Given the description of an element on the screen output the (x, y) to click on. 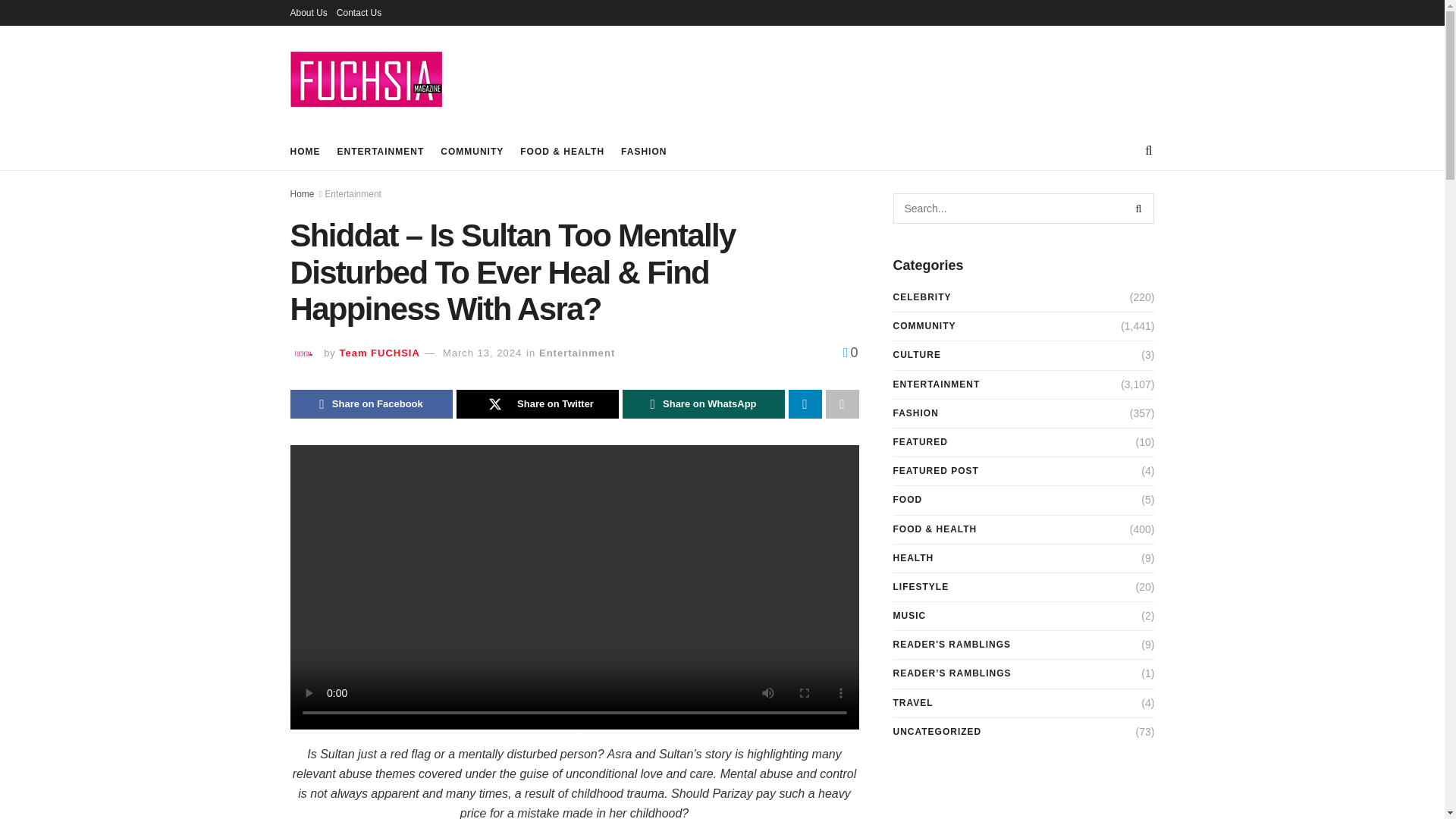
COMMUNITY (472, 151)
About Us (307, 12)
Share on Twitter (537, 403)
Entertainment (352, 194)
Share on WhatsApp (702, 403)
March 13, 2024 (481, 352)
ENTERTAINMENT (379, 151)
FASHION (643, 151)
Home (301, 194)
HOME (304, 151)
Entertainment (576, 352)
Share on Facebook (370, 403)
0 (851, 352)
Contact Us (358, 12)
Team FUCHSIA (379, 352)
